Given the description of an element on the screen output the (x, y) to click on. 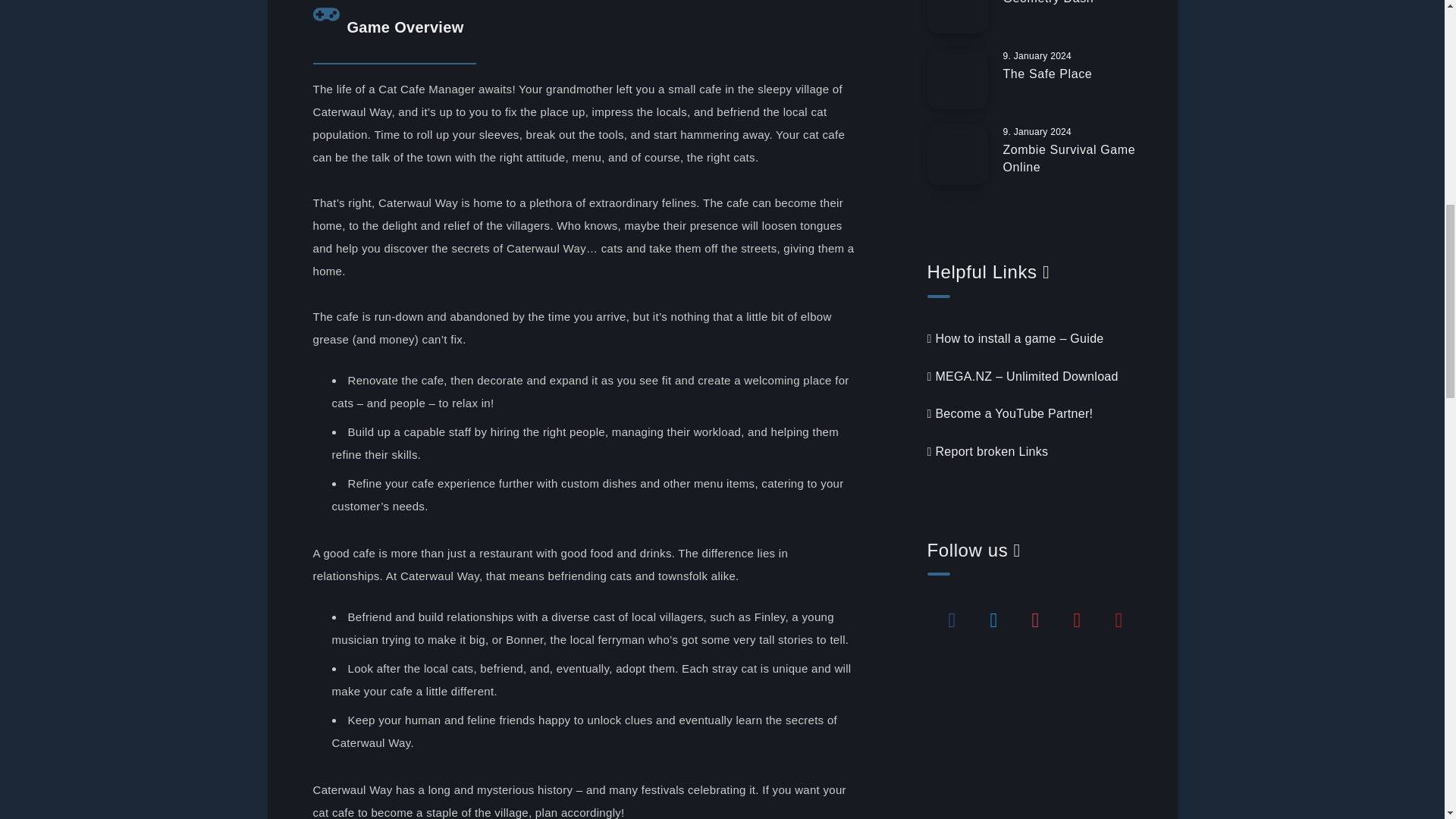
The Safe Place (1047, 75)
Geometry Dash (1048, 4)
Zombie Survival Game Online (1069, 160)
